Given the description of an element on the screen output the (x, y) to click on. 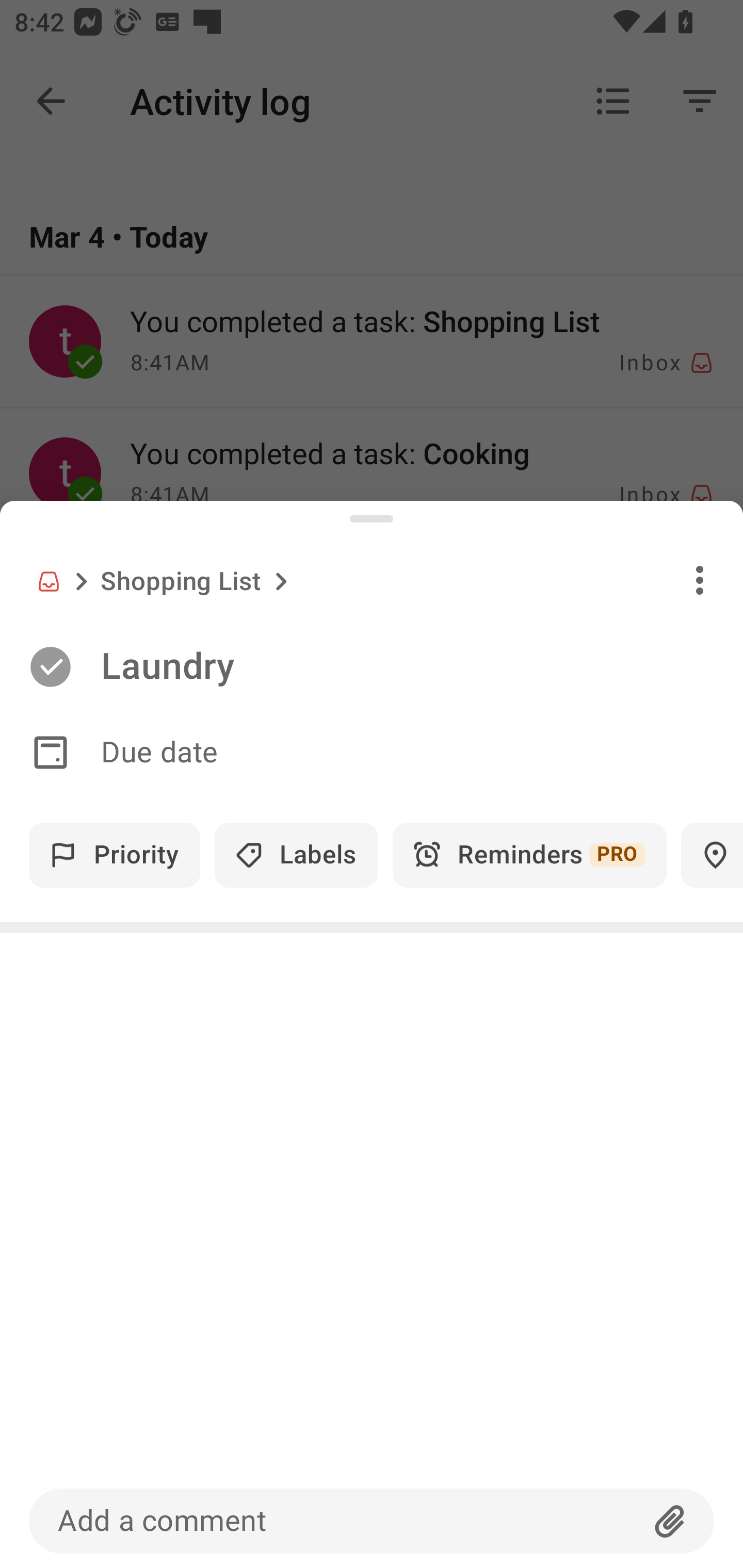
Overflow menu (699, 580)
Complete (50, 667)
Laundry (422, 666)
Date Due date (371, 752)
Priority (113, 855)
Labels (296, 855)
Reminders PRO (529, 855)
Locations PRO (712, 855)
Add a comment Attachment (371, 1520)
Attachment (670, 1520)
